Given the description of an element on the screen output the (x, y) to click on. 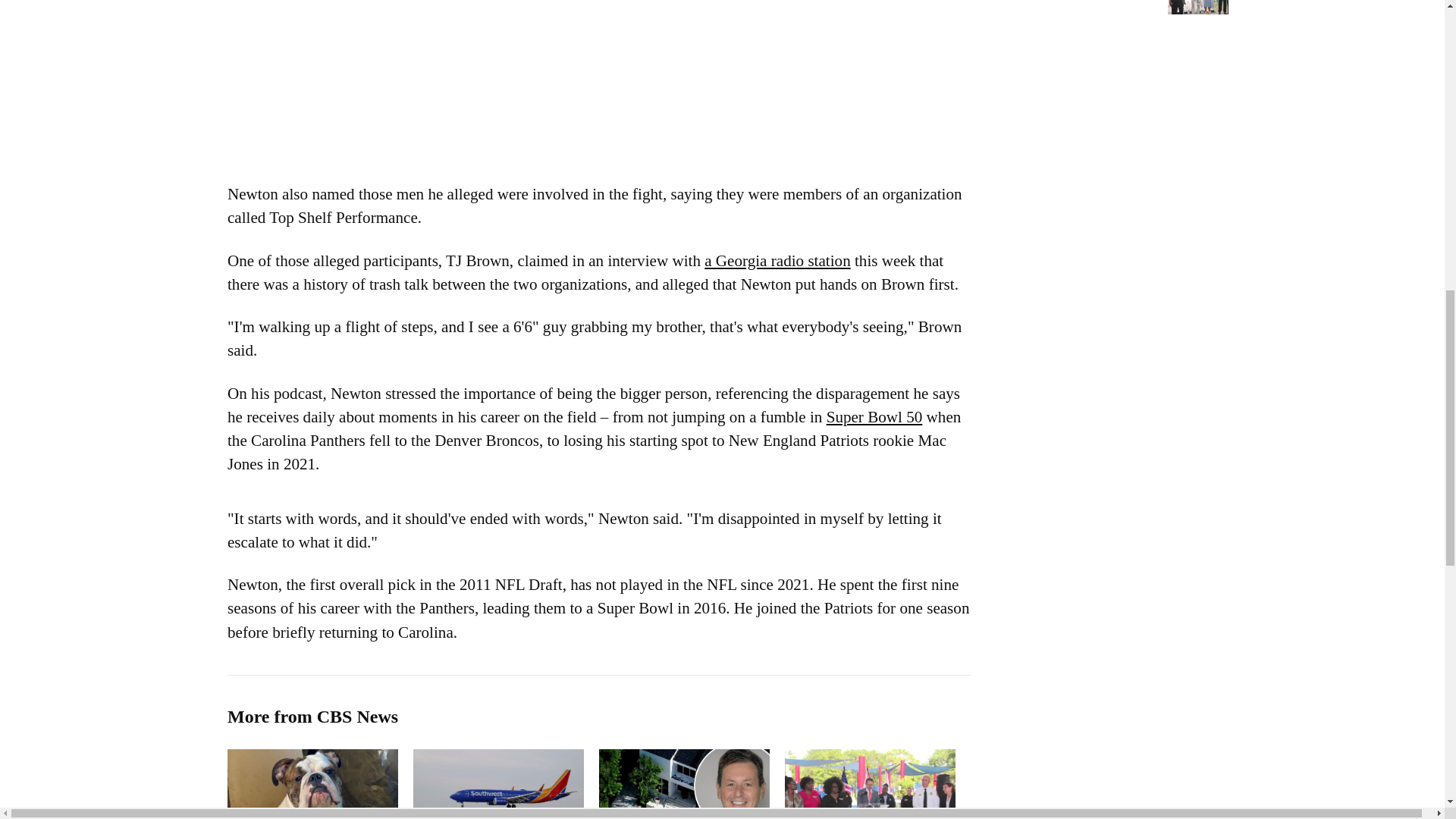
3rd party ad content (598, 76)
